Given the description of an element on the screen output the (x, y) to click on. 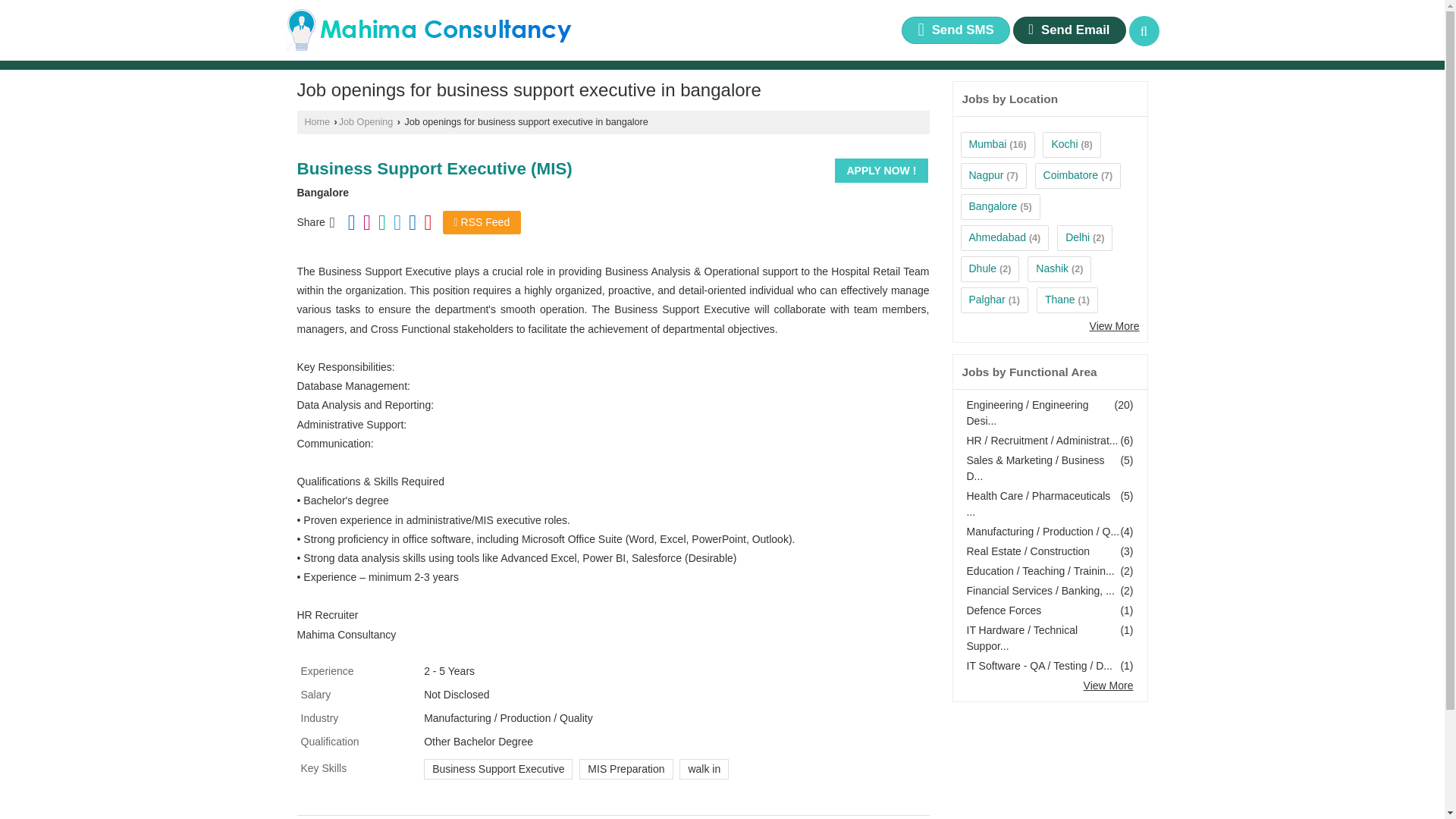
Mumbai (988, 143)
Home (317, 122)
APPLY NOW ! (881, 170)
Send Email (1069, 30)
Ahmedabad (997, 236)
Send SMS (955, 30)
Bangalore (993, 205)
Search (1143, 30)
Nagpur (986, 174)
APPLY NOW ! (881, 170)
Job Opening (366, 122)
Coimbatore (1070, 174)
Mahima Consultancy (428, 30)
RSS Feed (481, 222)
Kochi (1064, 143)
